Given the description of an element on the screen output the (x, y) to click on. 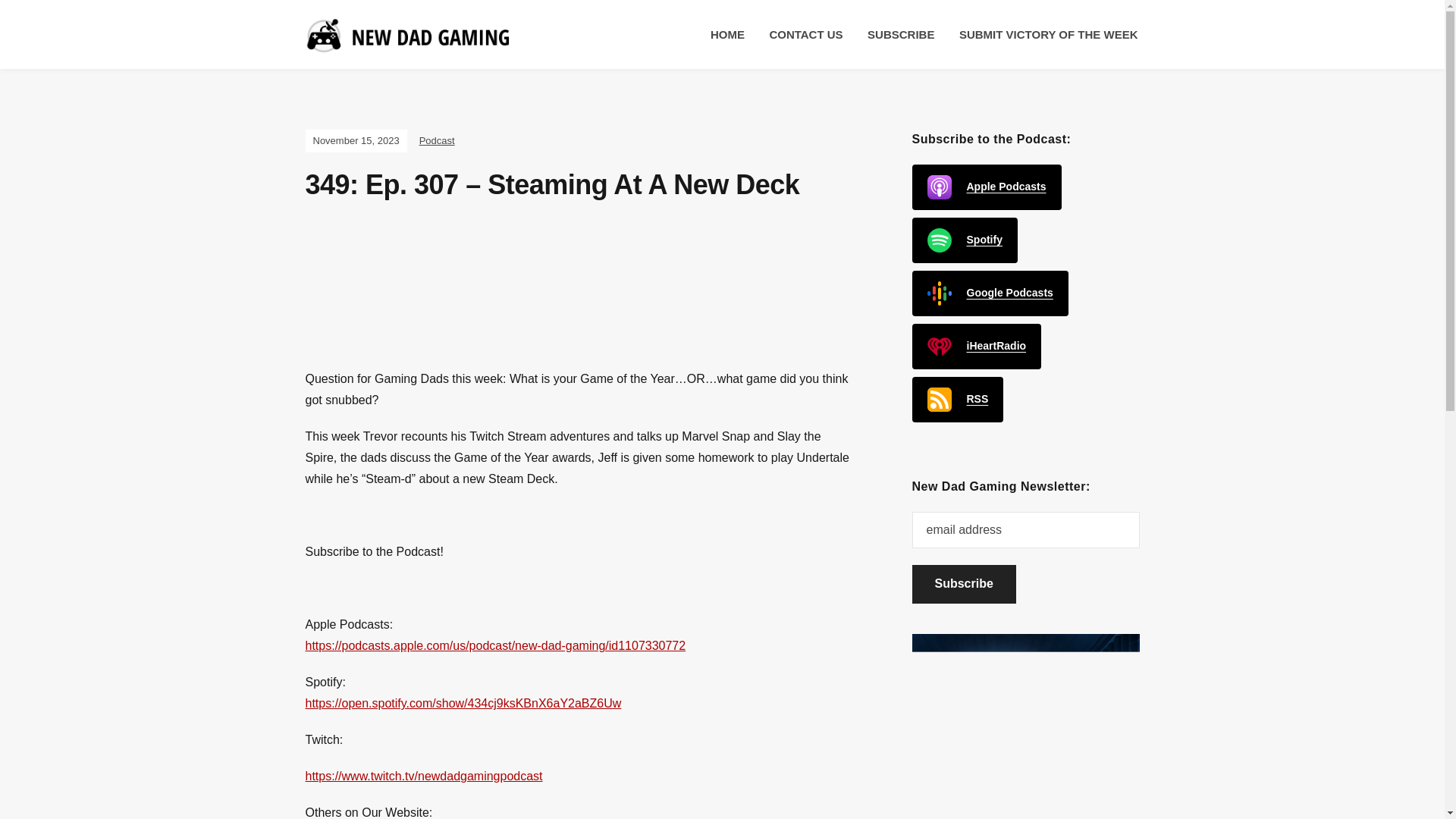
SUBMIT VICTORY OF THE WEEK (1049, 34)
SUBSCRIBE (901, 34)
iHeartRadio (976, 346)
RSS (957, 399)
HOME (727, 34)
Google Podcasts (989, 293)
Subscribe (962, 584)
Apple Podcasts (986, 186)
Subscribe (962, 584)
Podcast (436, 140)
